Given the description of an element on the screen output the (x, y) to click on. 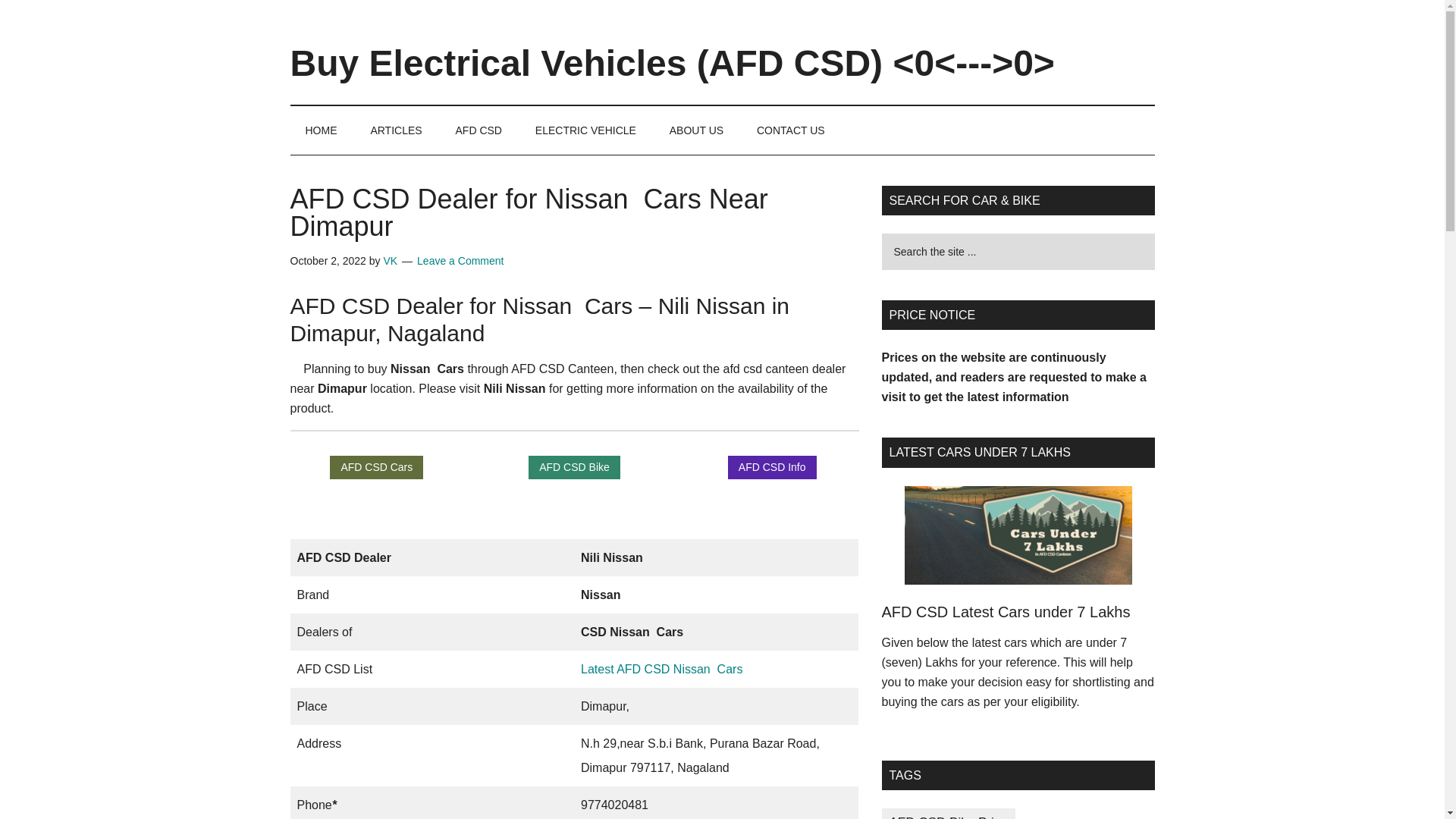
AFD CSD Cars (376, 467)
ABOUT US (695, 130)
CONTACT US (790, 130)
Leave a Comment (459, 260)
Latest AFD CSD Nissan  Cars (661, 668)
AFD CSD Bike (574, 467)
ELECTRIC VEHICLE (584, 130)
VK (389, 260)
HOME (320, 130)
